Given the description of an element on the screen output the (x, y) to click on. 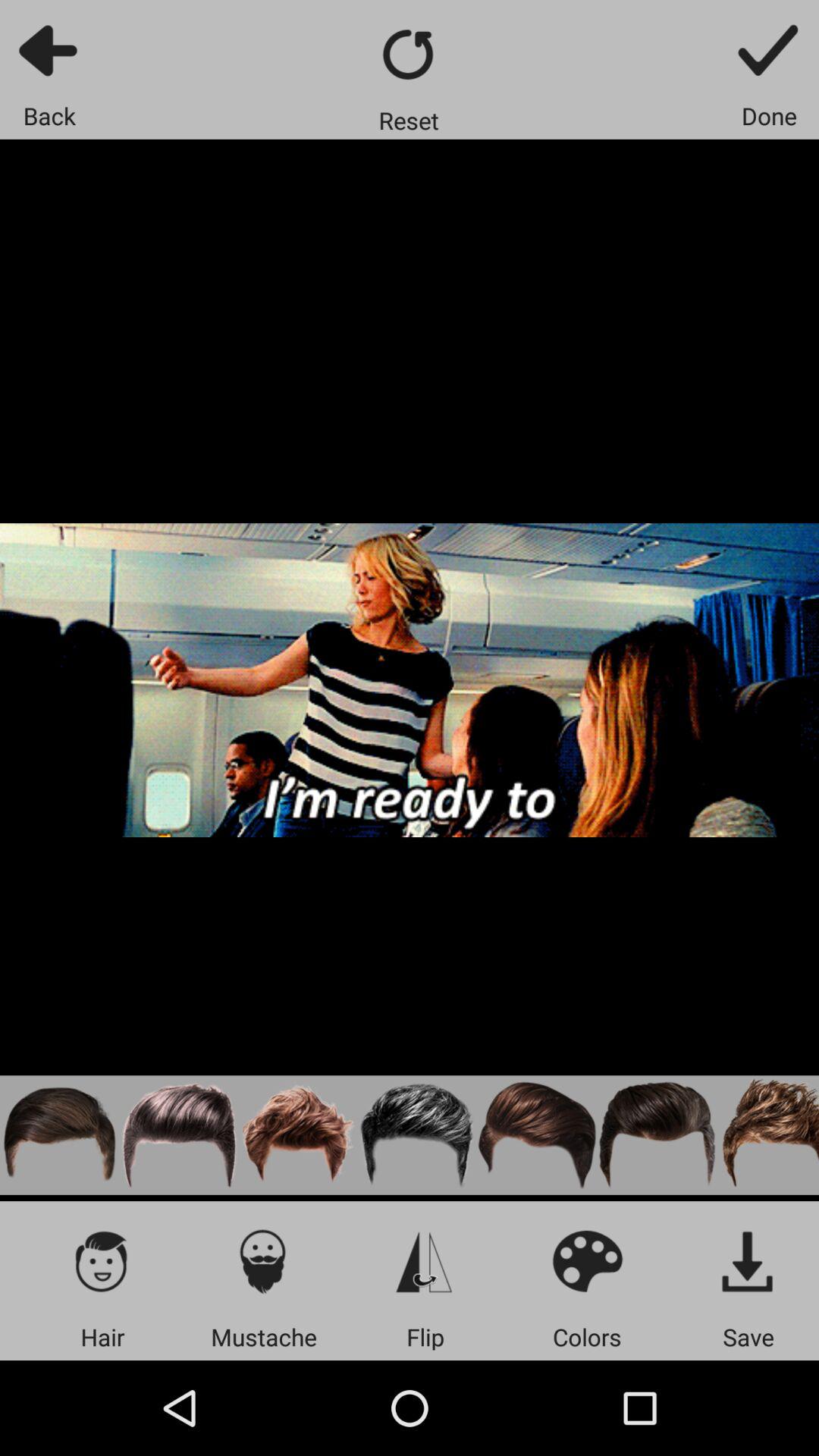
go to hair icon (102, 1260)
